Given the description of an element on the screen output the (x, y) to click on. 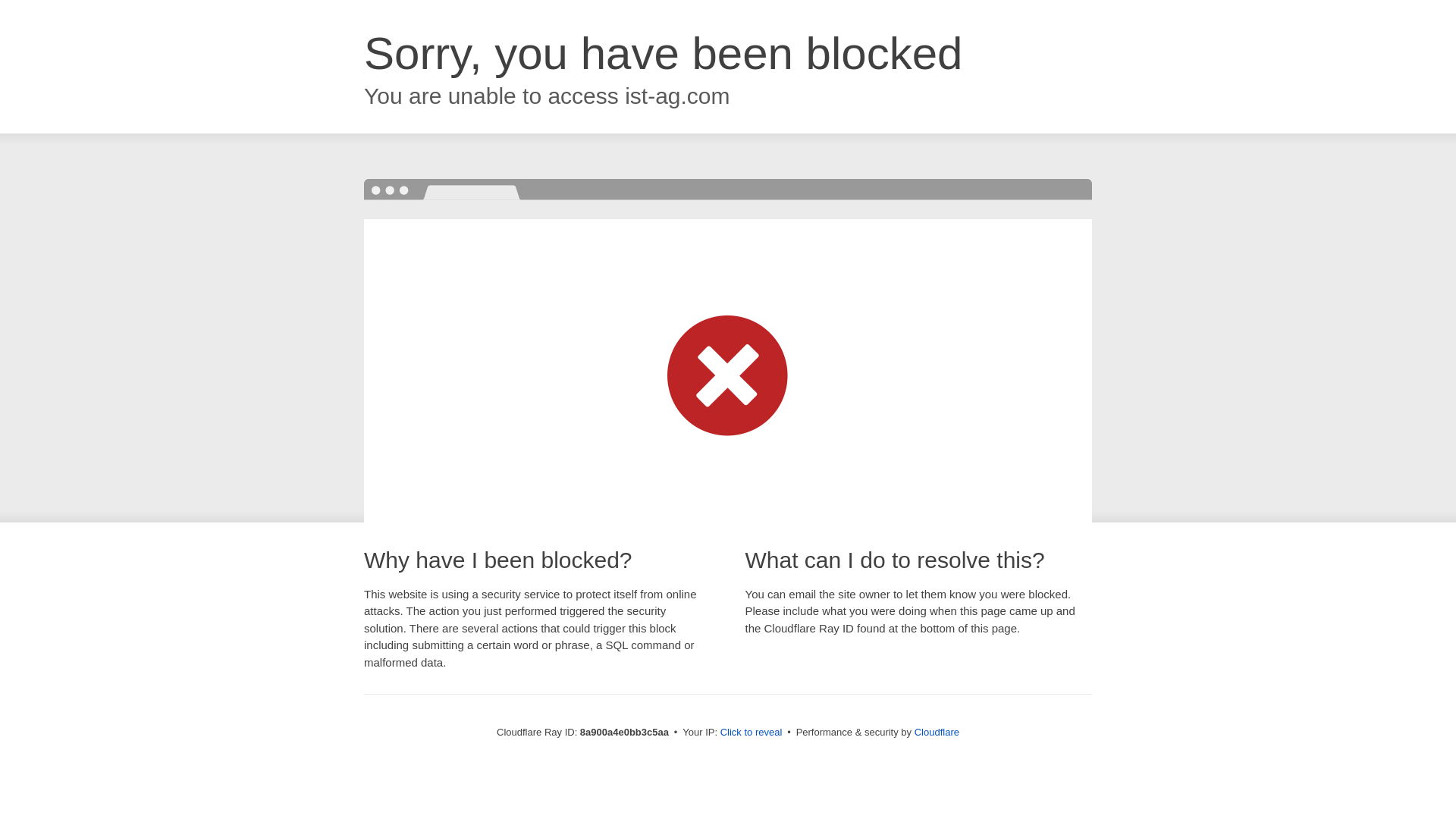
Click to reveal (751, 732)
Cloudflare (936, 731)
